Given the description of an element on the screen output the (x, y) to click on. 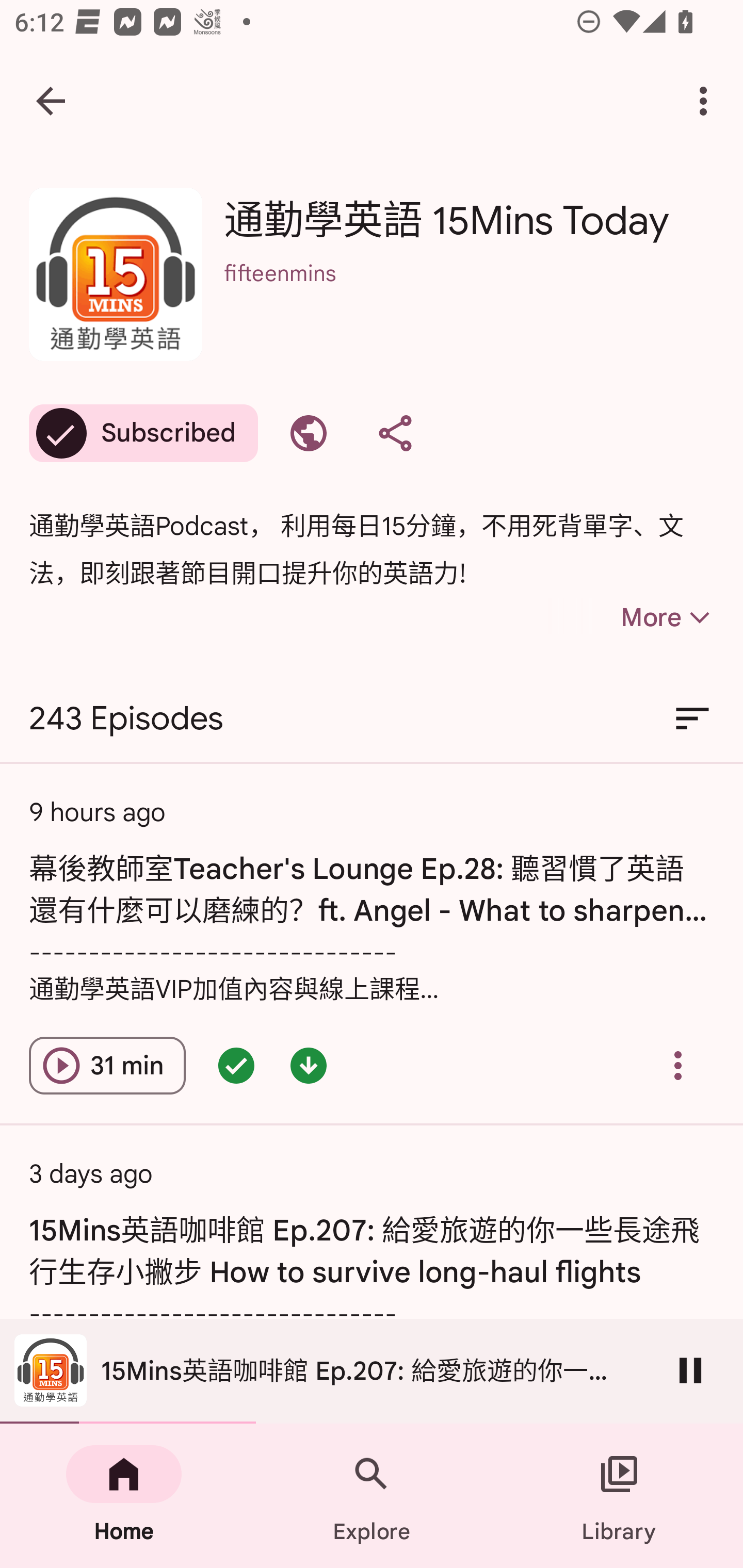
Navigate up (50, 101)
More options (706, 101)
fifteenmins (468, 300)
Subscribed (142, 433)
Visit website (308, 433)
Share (395, 433)
More (631, 616)
Sort (692, 718)
Episode queued - double tap for options (235, 1065)
Episode downloaded - double tap for options (308, 1065)
Overflow menu (677, 1065)
Pause (690, 1370)
Explore (371, 1495)
Library (619, 1495)
